Given the description of an element on the screen output the (x, y) to click on. 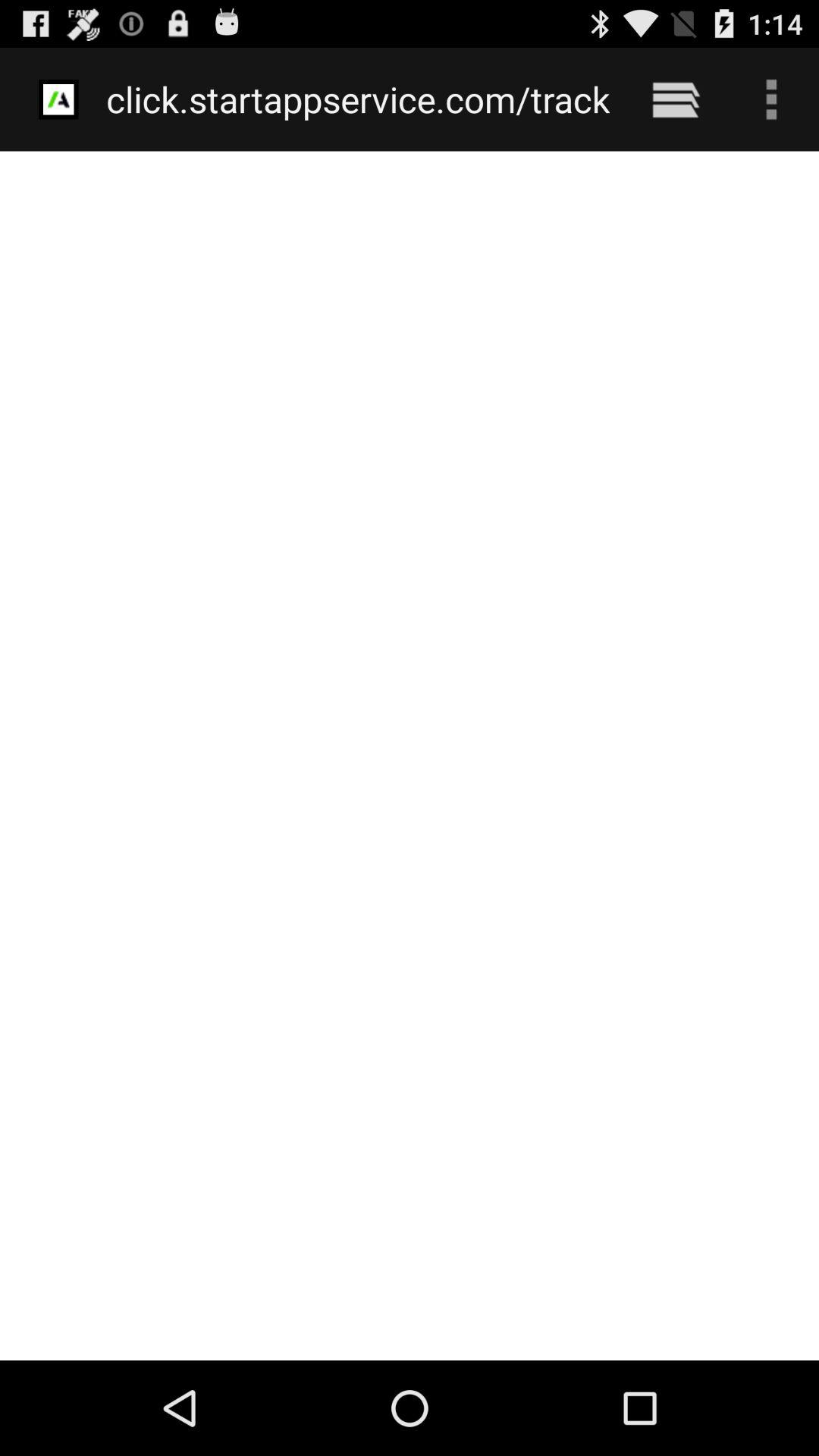
launch click startappservice com item (357, 99)
